Given the description of an element on the screen output the (x, y) to click on. 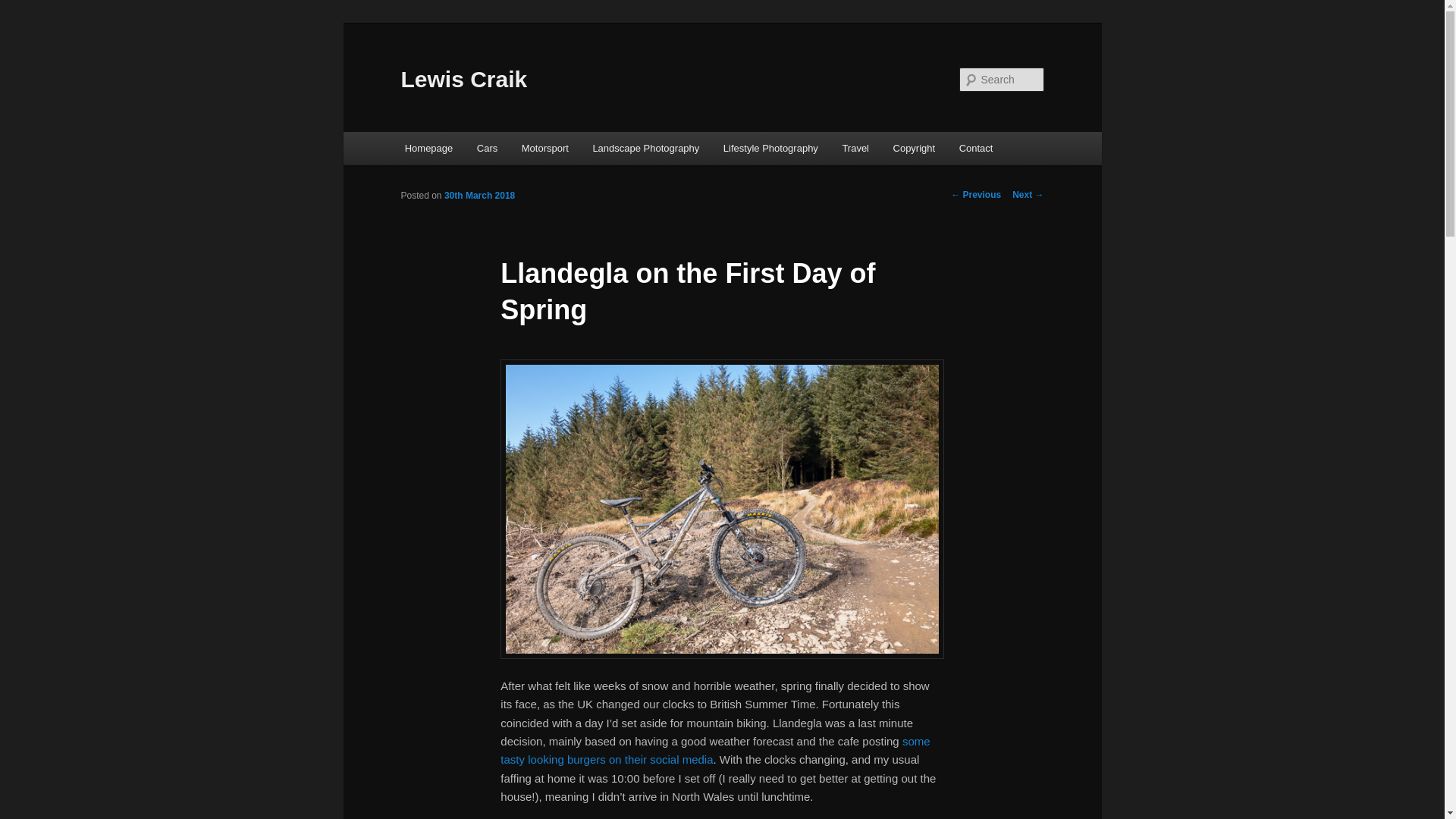
Search (24, 8)
Landscape Photography (645, 147)
Contact (975, 147)
Lifestyle Photography (770, 147)
Lewis Craik (463, 78)
Homepage (428, 147)
Travel (854, 147)
Cars (486, 147)
Motorsport (544, 147)
Copyright (913, 147)
30th March 2018 (479, 195)
some tasty looking burgers on their social media (715, 749)
